Given the description of an element on the screen output the (x, y) to click on. 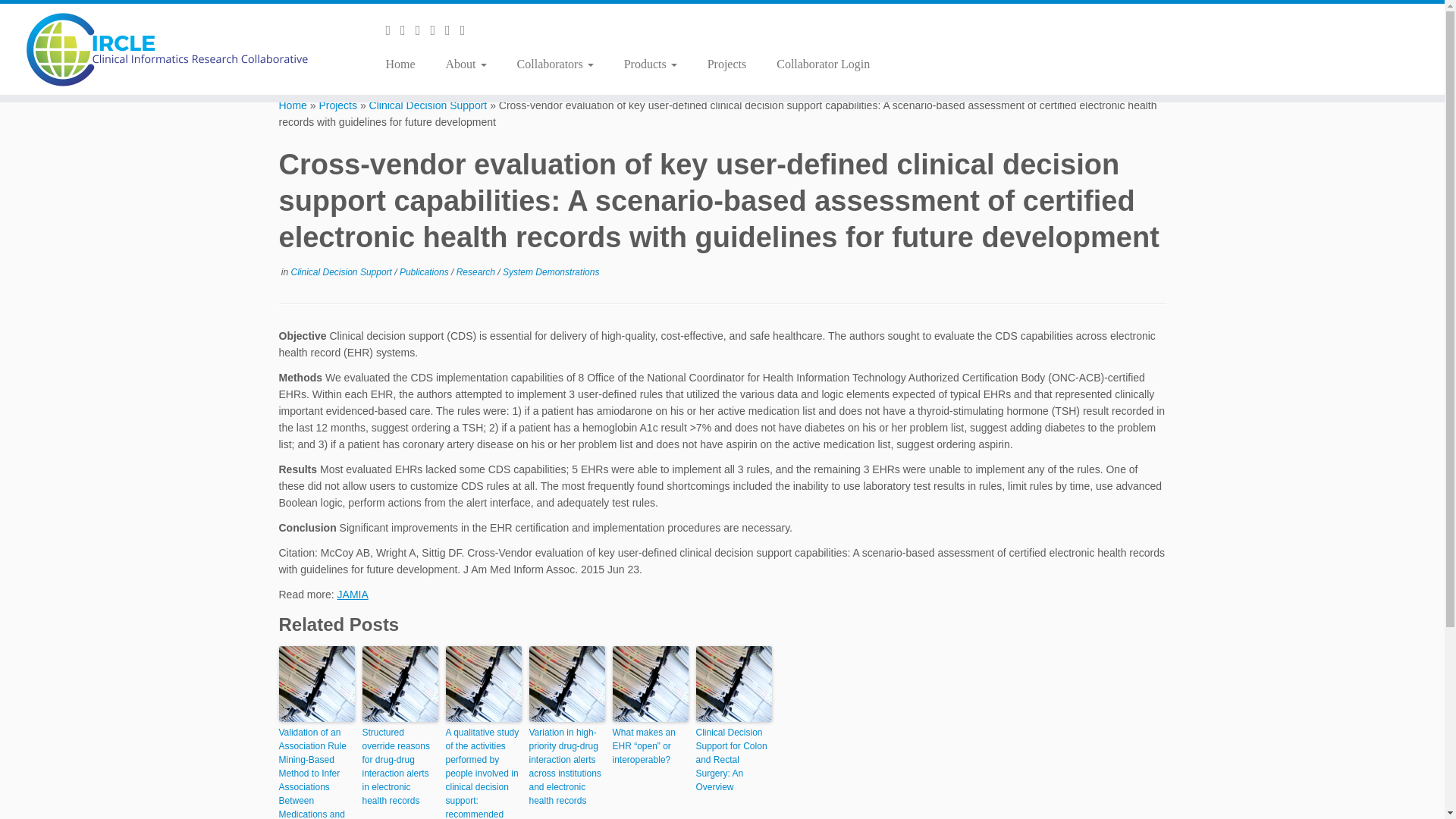
Follow me on Facebook (422, 29)
Collaborators (555, 64)
Projects (337, 105)
Publications (424, 271)
System Demonstrations (550, 271)
CIRCLE: Clinical Informatics Research Collaborative (293, 105)
View all posts in Research (477, 271)
Home (405, 64)
Products (650, 64)
Clinical Decision Support (428, 105)
